Given the description of an element on the screen output the (x, y) to click on. 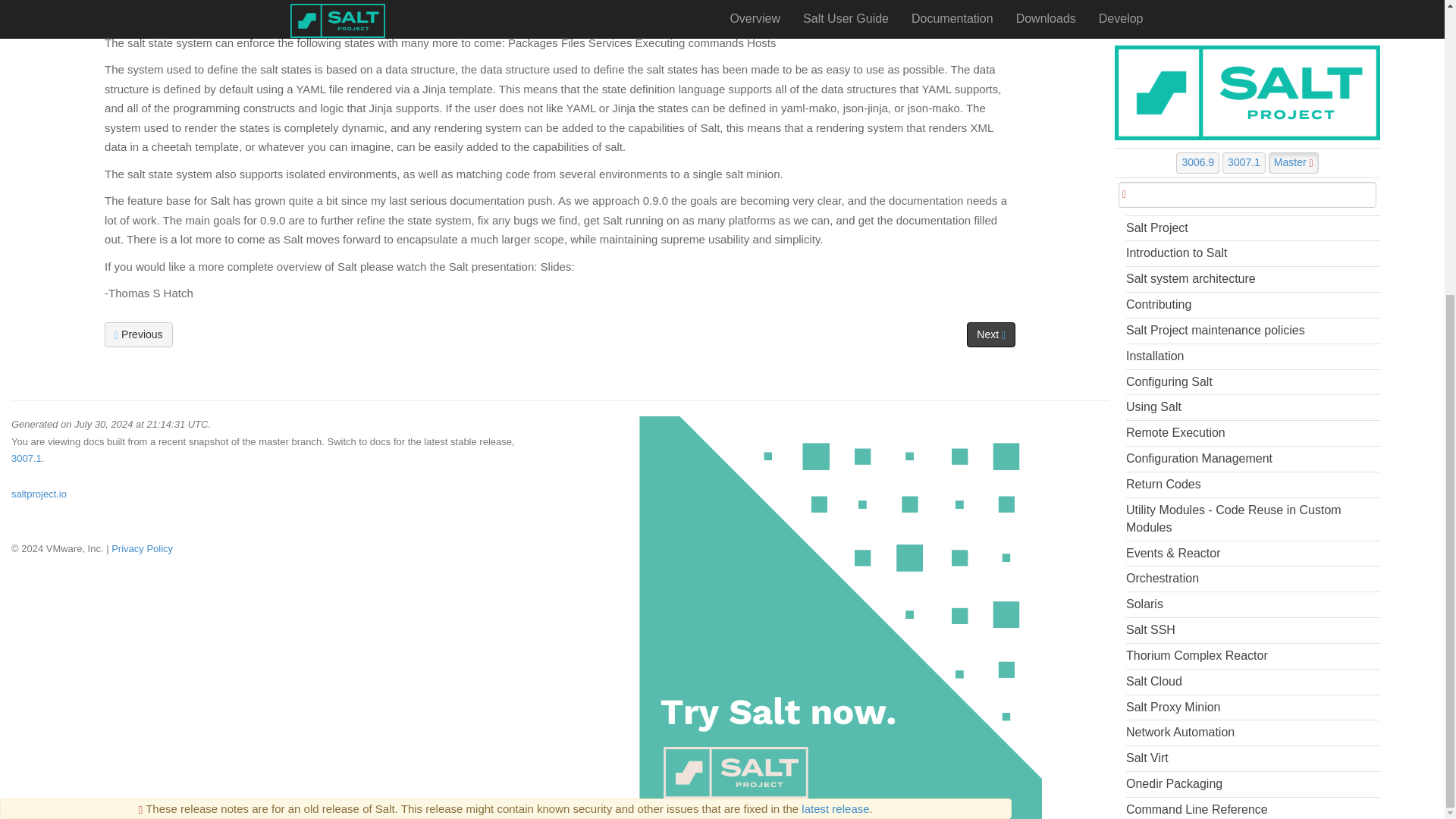
Next (990, 334)
Previous (137, 334)
3007.1 (26, 458)
latest release (835, 354)
saltproject.io (38, 493)
Privacy Policy (142, 548)
